Given the description of an element on the screen output the (x, y) to click on. 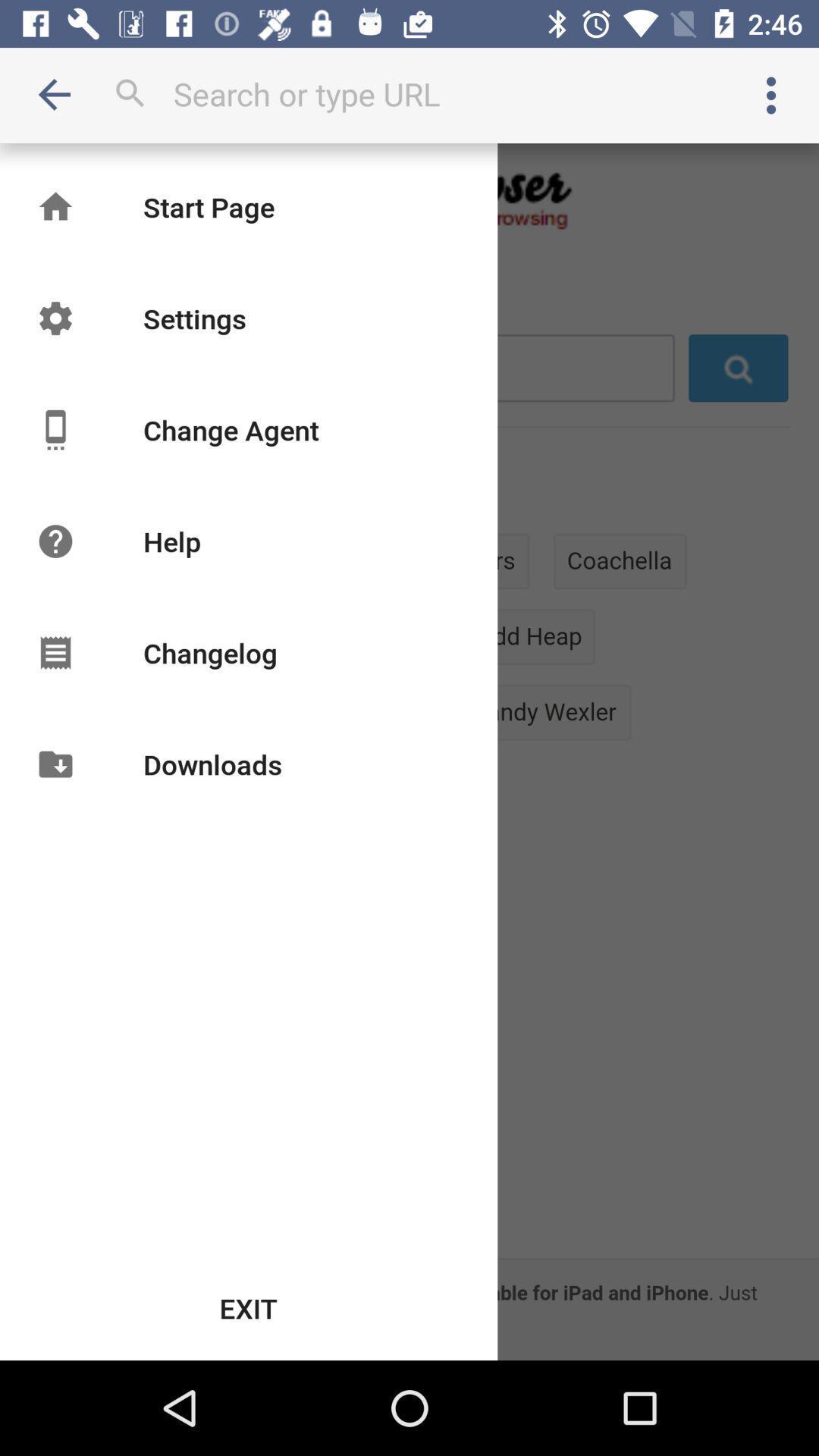
search button (409, 94)
